Given the description of an element on the screen output the (x, y) to click on. 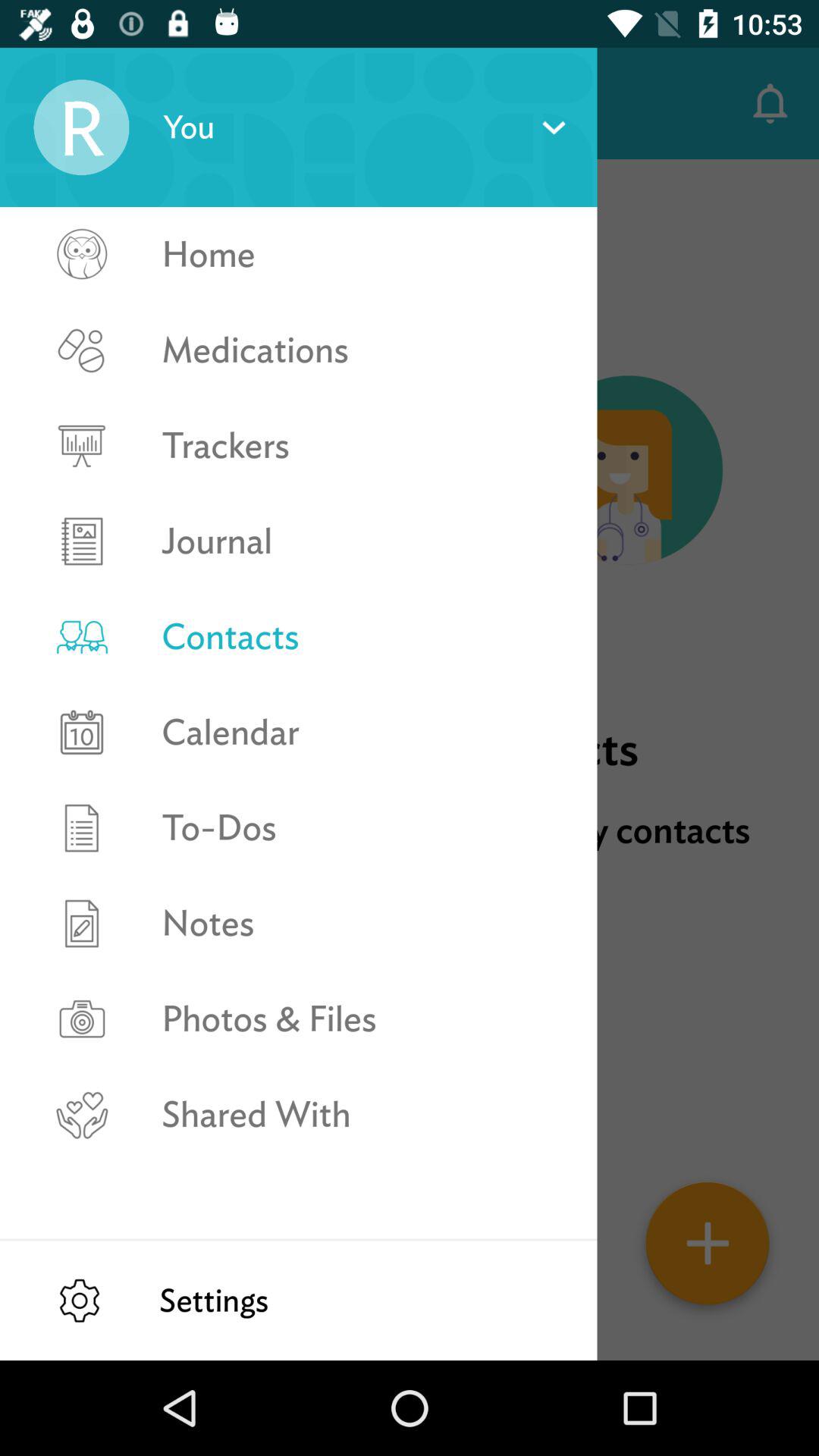
choose the icon above the notes (363, 827)
